Given the description of an element on the screen output the (x, y) to click on. 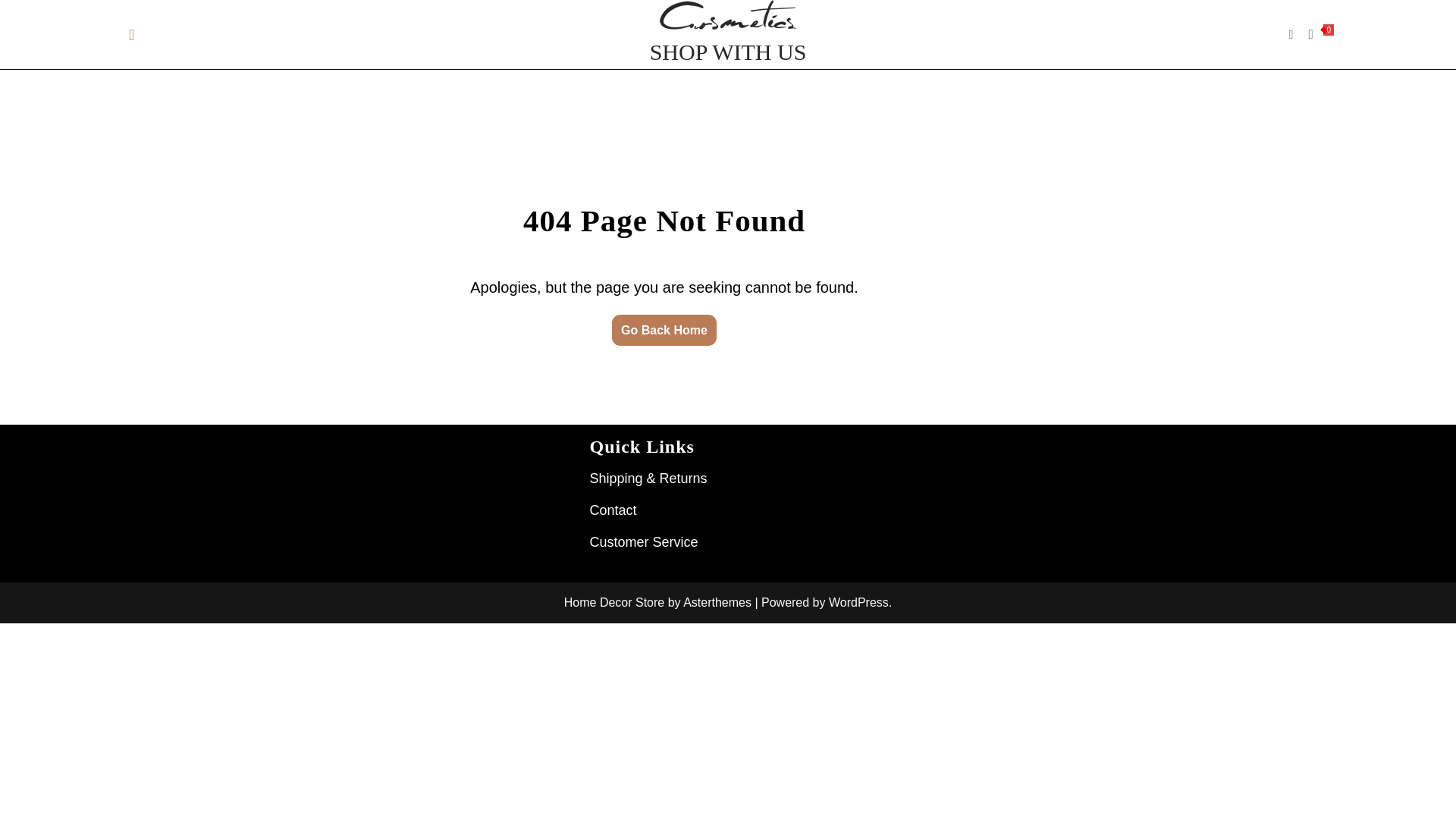
Asterthemes (716, 602)
Customer Service (643, 541)
Go Back Home (663, 328)
Home Decor Store (614, 602)
View Shopping Cart (1310, 34)
WordPress (858, 602)
SHOP WITH US (727, 51)
Contact (613, 509)
0 (1310, 34)
